Given the description of an element on the screen output the (x, y) to click on. 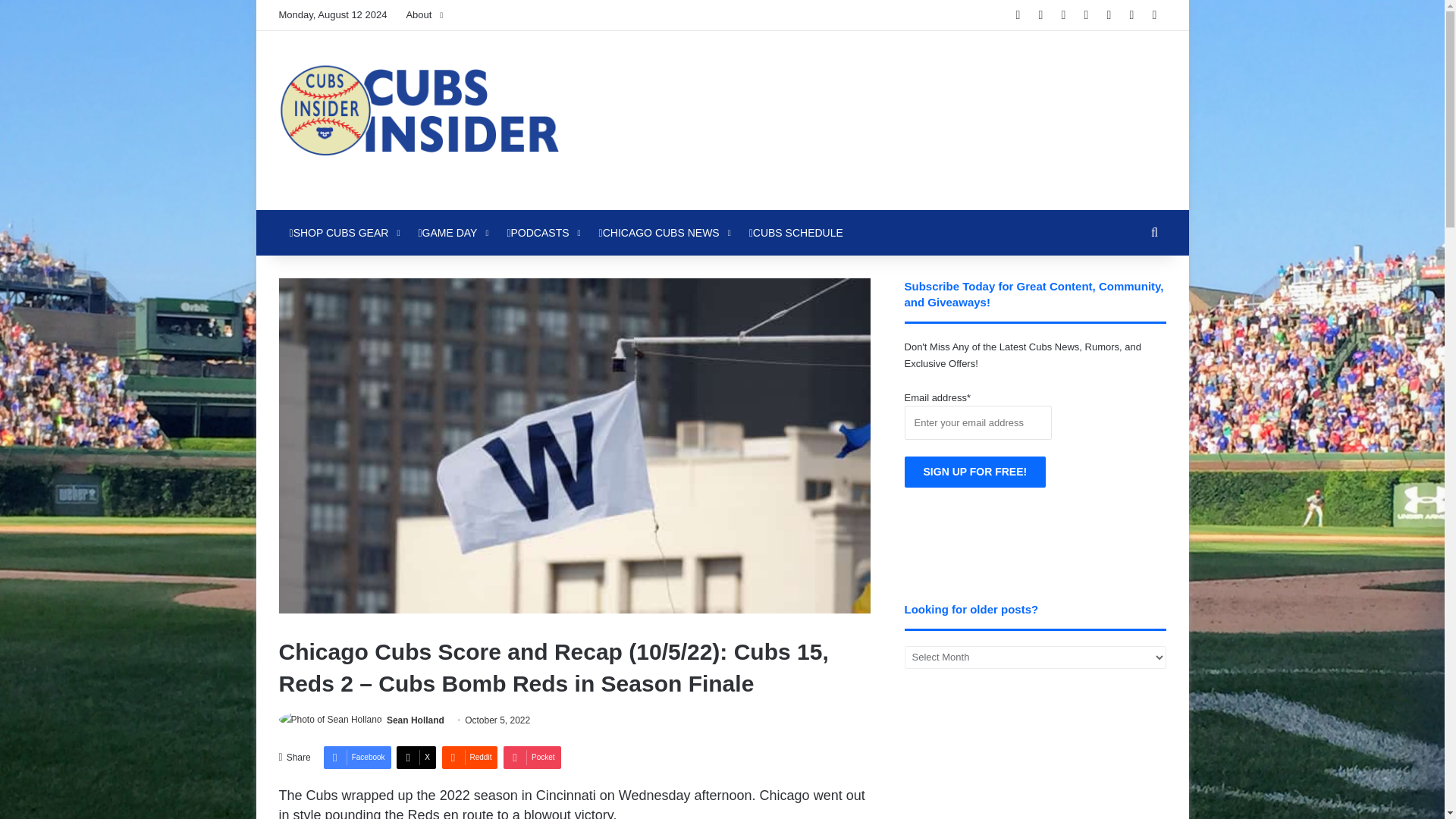
About (423, 15)
SHOP CUBS GEAR (343, 232)
X (415, 757)
Sean Holland (415, 719)
GAME DAY (451, 232)
X (415, 757)
Reddit (469, 757)
Sean Holland (415, 719)
Facebook (357, 757)
Reddit (469, 757)
